Given the description of an element on the screen output the (x, y) to click on. 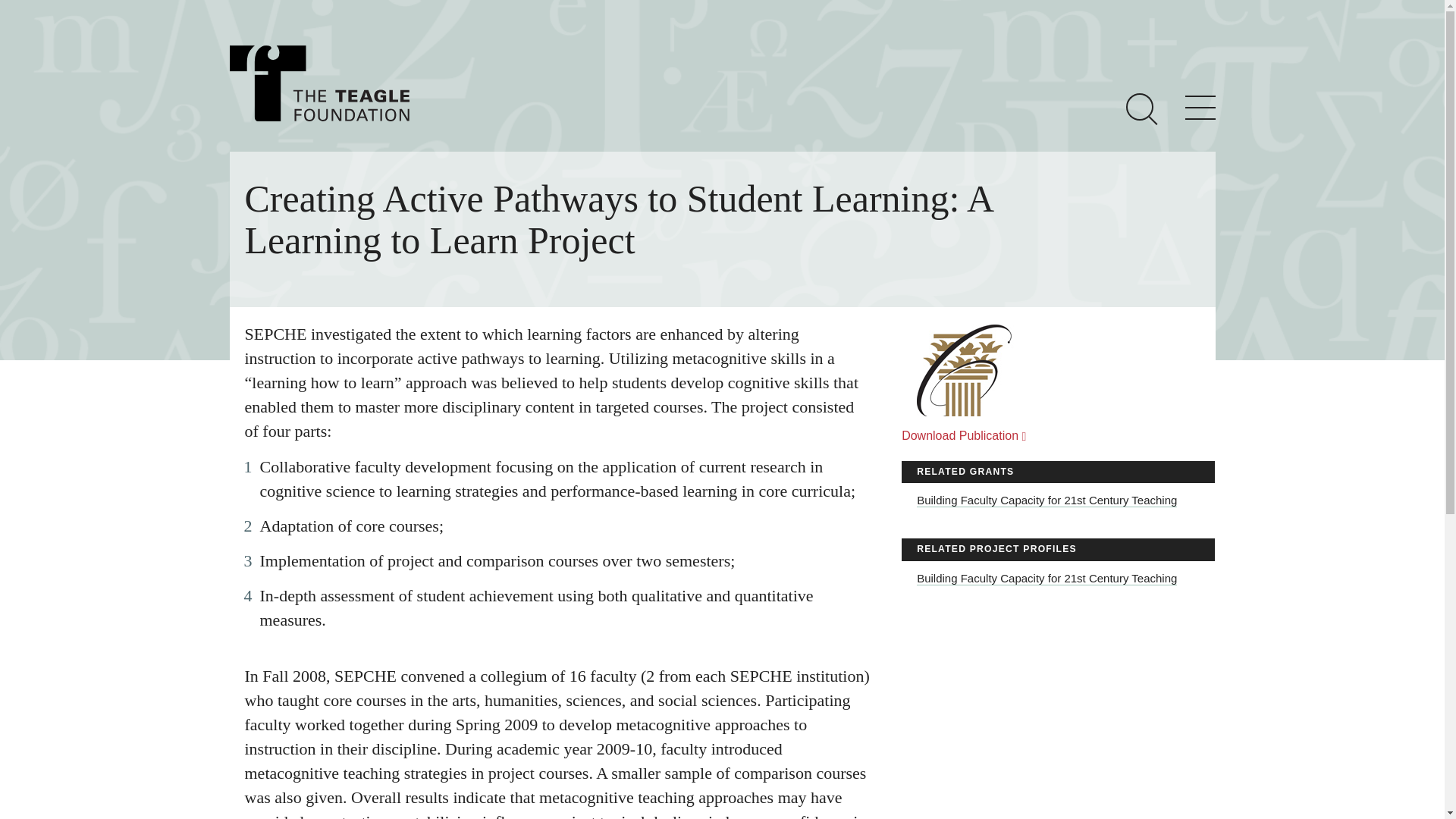
Building Faculty Capacity for 21st Century Teaching (1046, 499)
Download Publication (964, 435)
The Teagle Foundation (318, 83)
Building Faculty Capacity for 21st Century Teaching (1046, 578)
